Given the description of an element on the screen output the (x, y) to click on. 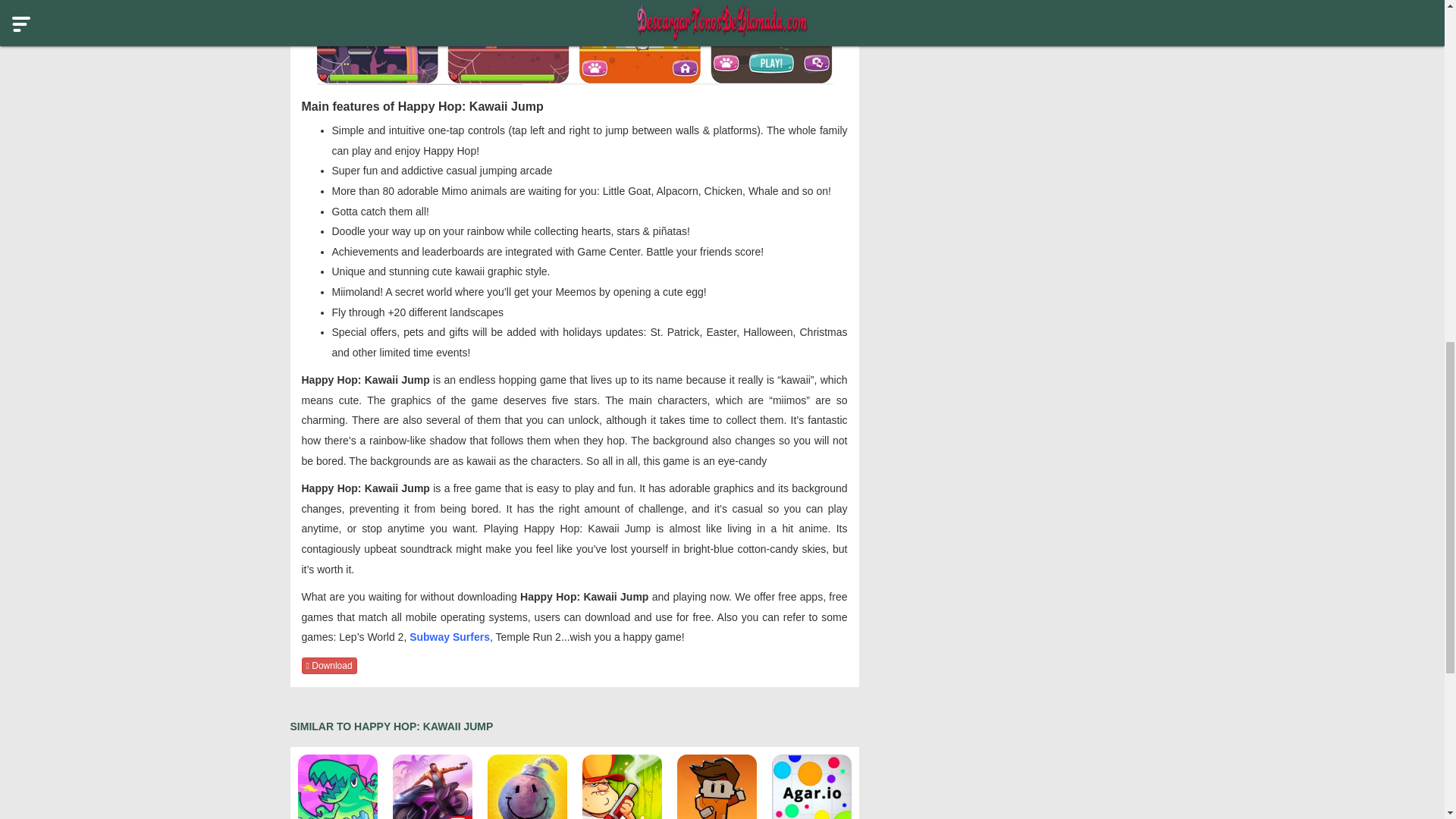
Agar.io (811, 786)
BombSquad (526, 786)
BombSquad (526, 786)
Kaiju Rush (337, 786)
Subway Surfers (449, 636)
Download (328, 665)
The Escapists 2: Pocket Breakout (716, 786)
Swamp Attack (622, 786)
The Escapists 2: Pocket Breakout (716, 786)
Kaiju Rush (337, 786)
Swamp Attack (622, 786)
Agar.io (811, 786)
